Given the description of an element on the screen output the (x, y) to click on. 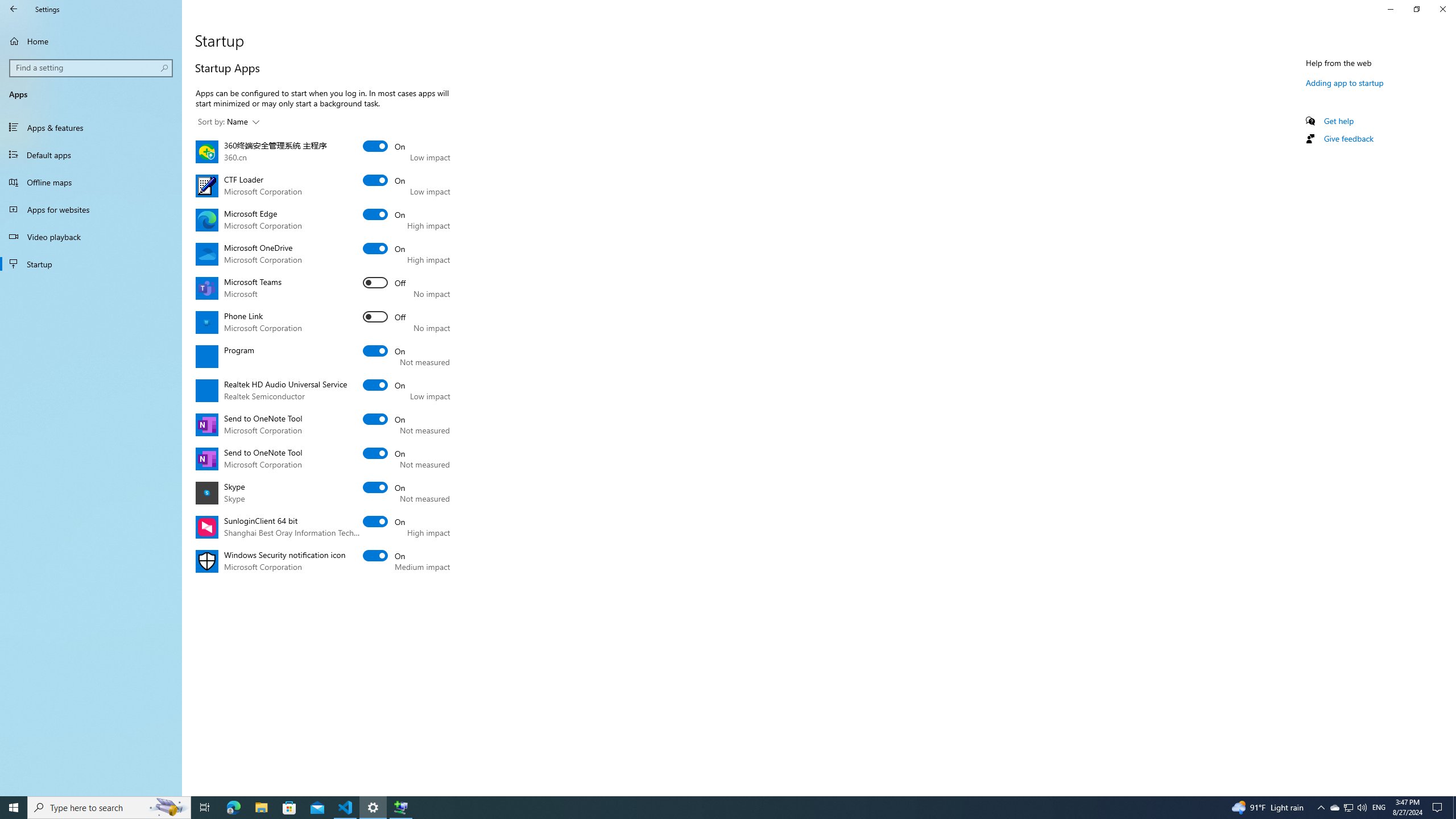
Microsoft Teams (384, 282)
Default apps (91, 154)
Program (384, 350)
Windows Security notification icon (384, 555)
Running applications (706, 807)
Give feedback (1348, 138)
